Given the description of an element on the screen output the (x, y) to click on. 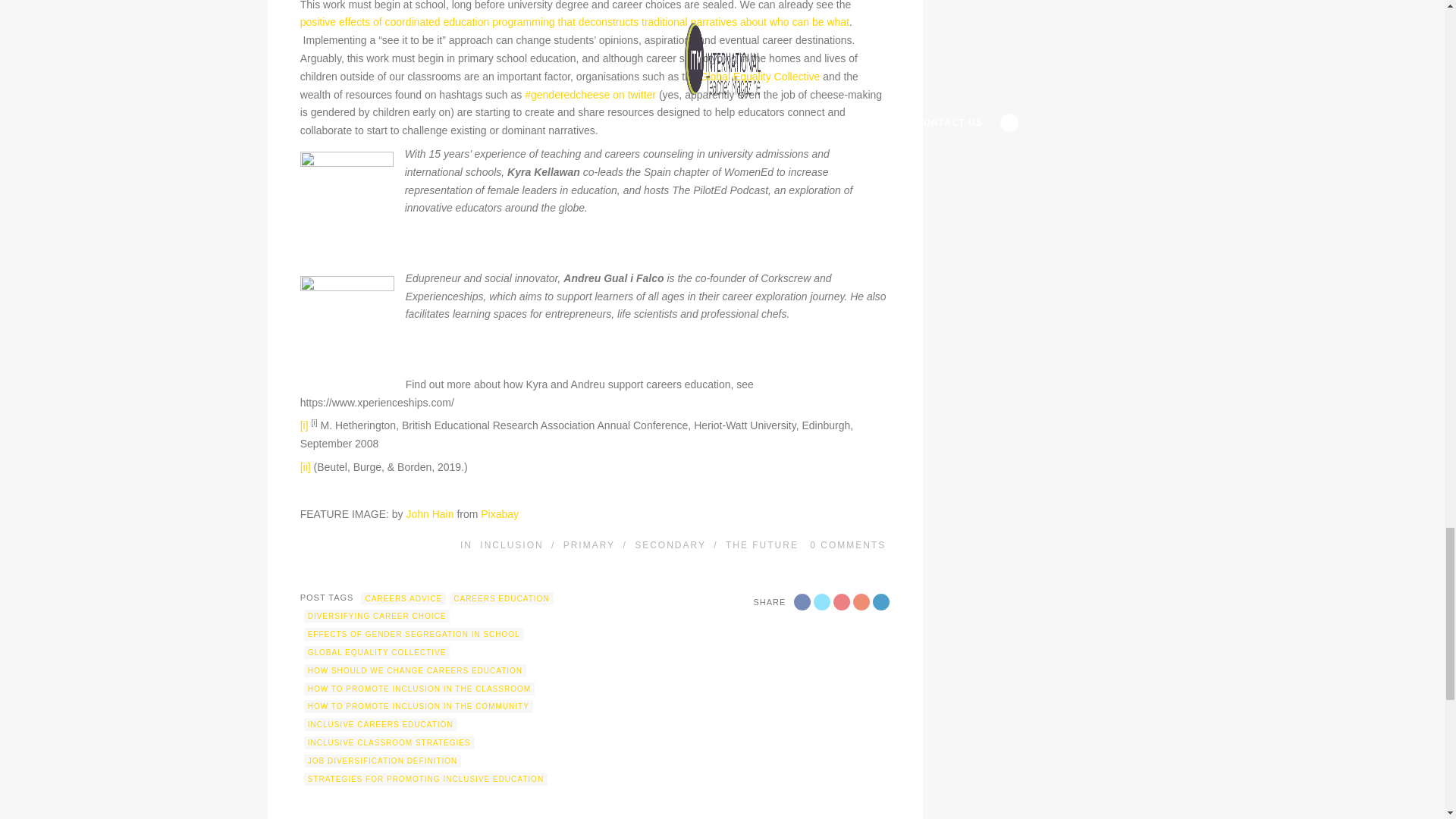
Facebook (801, 601)
Pinterest (861, 601)
Twitter (821, 601)
LinkedIn (880, 601)
